Given the description of an element on the screen output the (x, y) to click on. 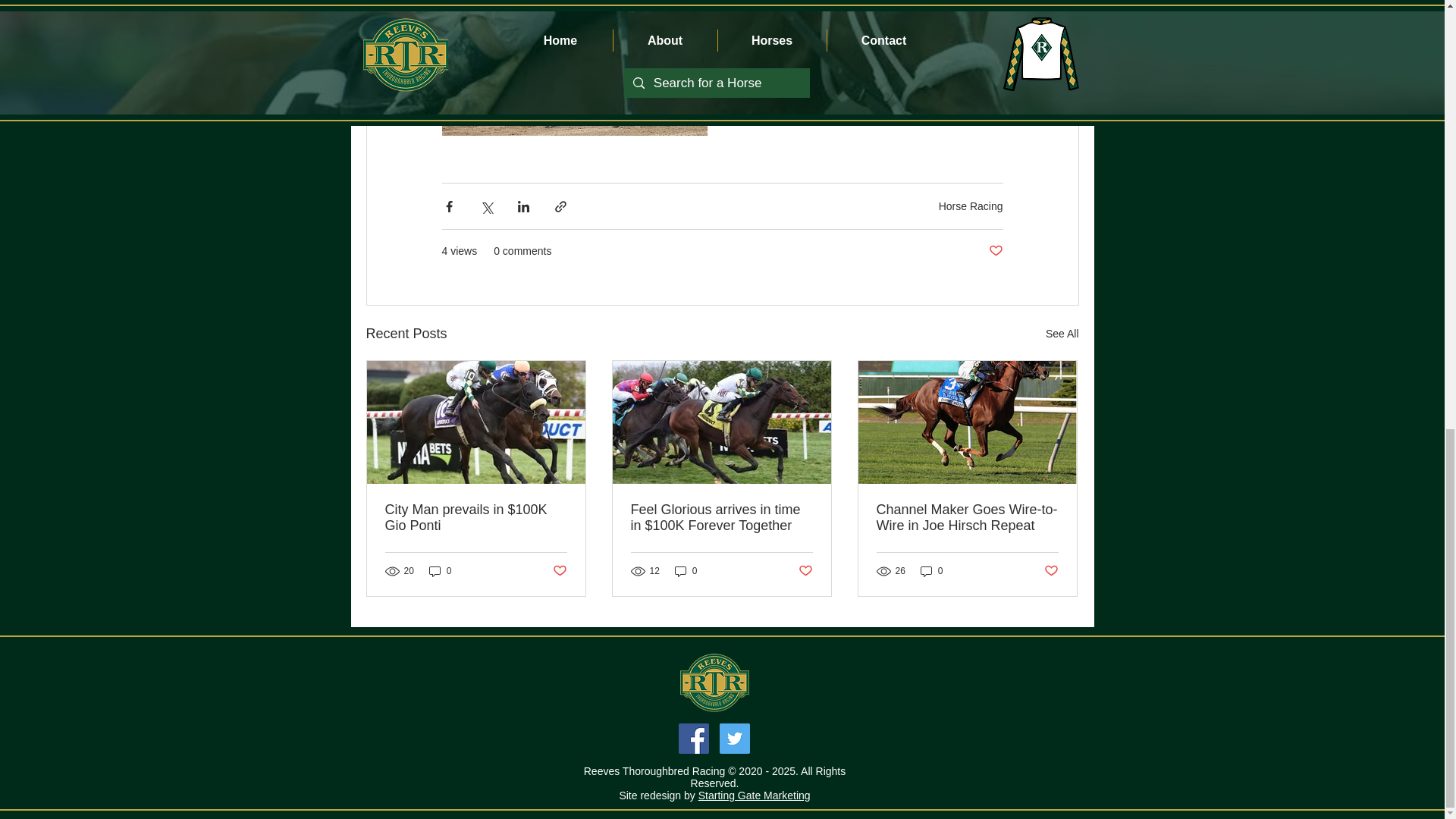
Post not marked as liked (558, 570)
Post not marked as liked (804, 570)
See All (1061, 333)
0 (440, 571)
0 (685, 571)
Post not marked as liked (995, 251)
Horse Racing (971, 205)
